Given the description of an element on the screen output the (x, y) to click on. 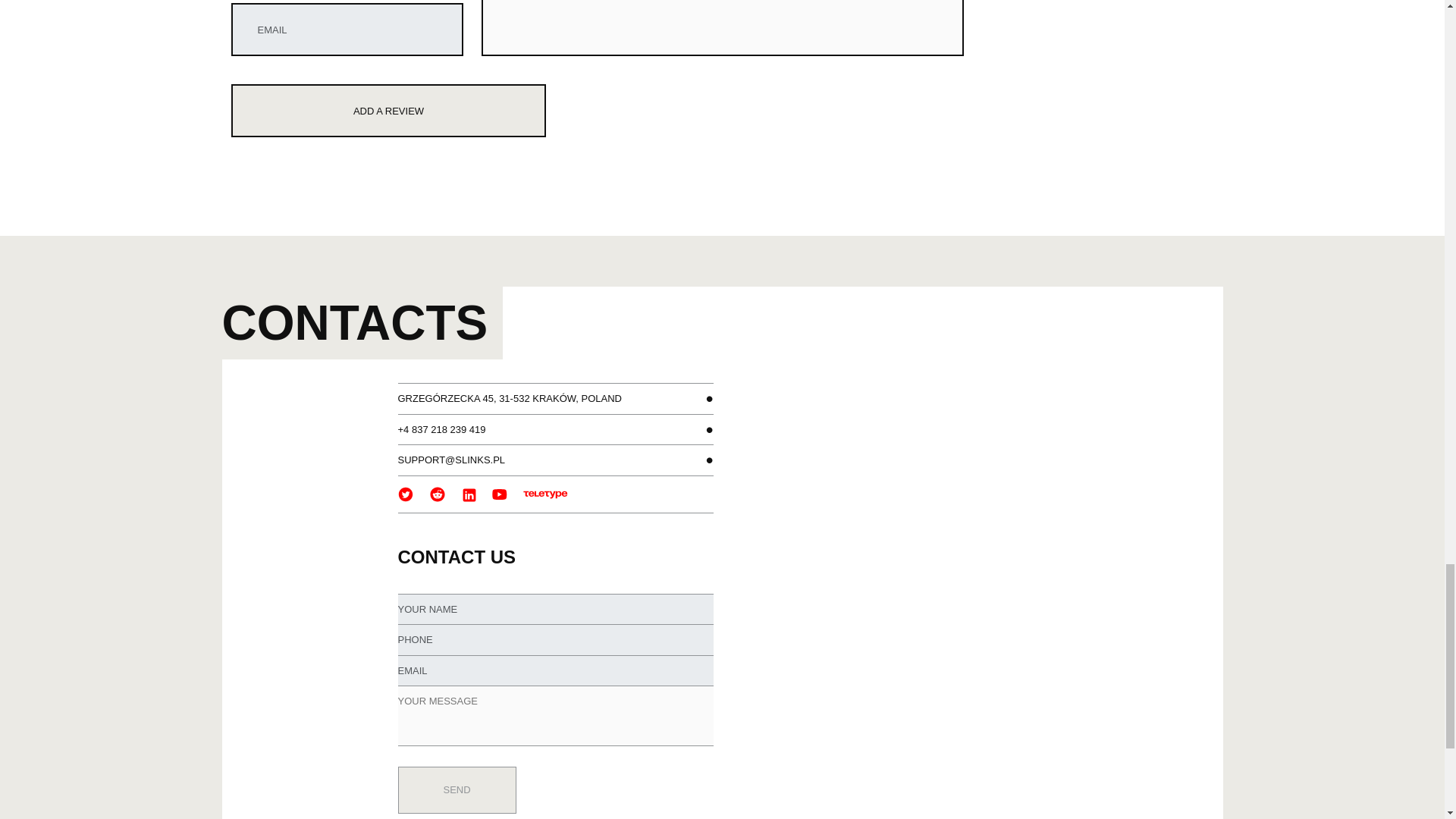
Add a review (388, 110)
Twitter (404, 494)
Teletype (545, 492)
Reddit (437, 494)
YouTube (501, 492)
Reddit (438, 492)
YouTube (500, 494)
Add a review (388, 110)
Send (456, 790)
Twitter (405, 492)
